Given the description of an element on the screen output the (x, y) to click on. 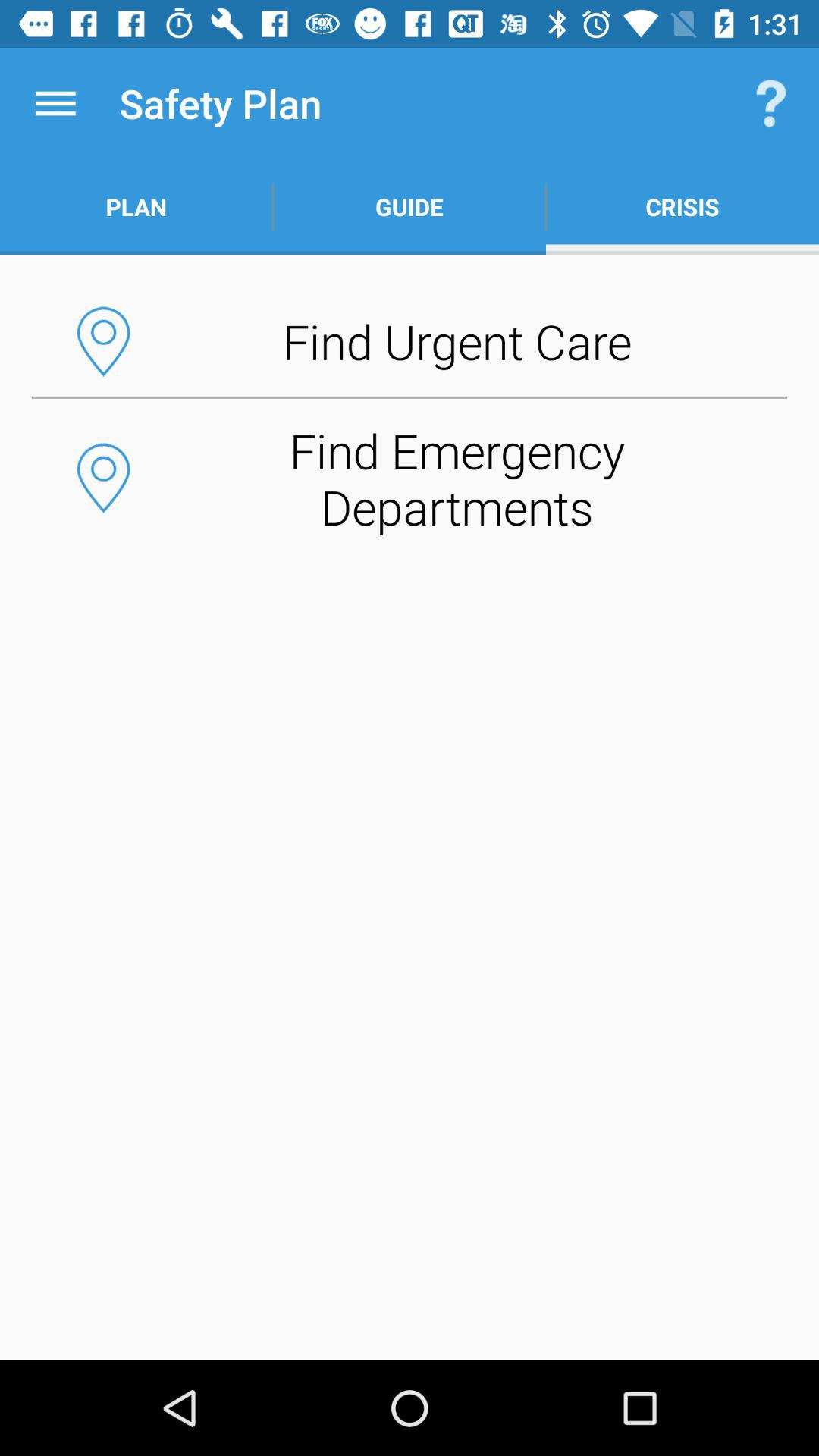
turn off the item to the right of the guide (682, 206)
